Given the description of an element on the screen output the (x, y) to click on. 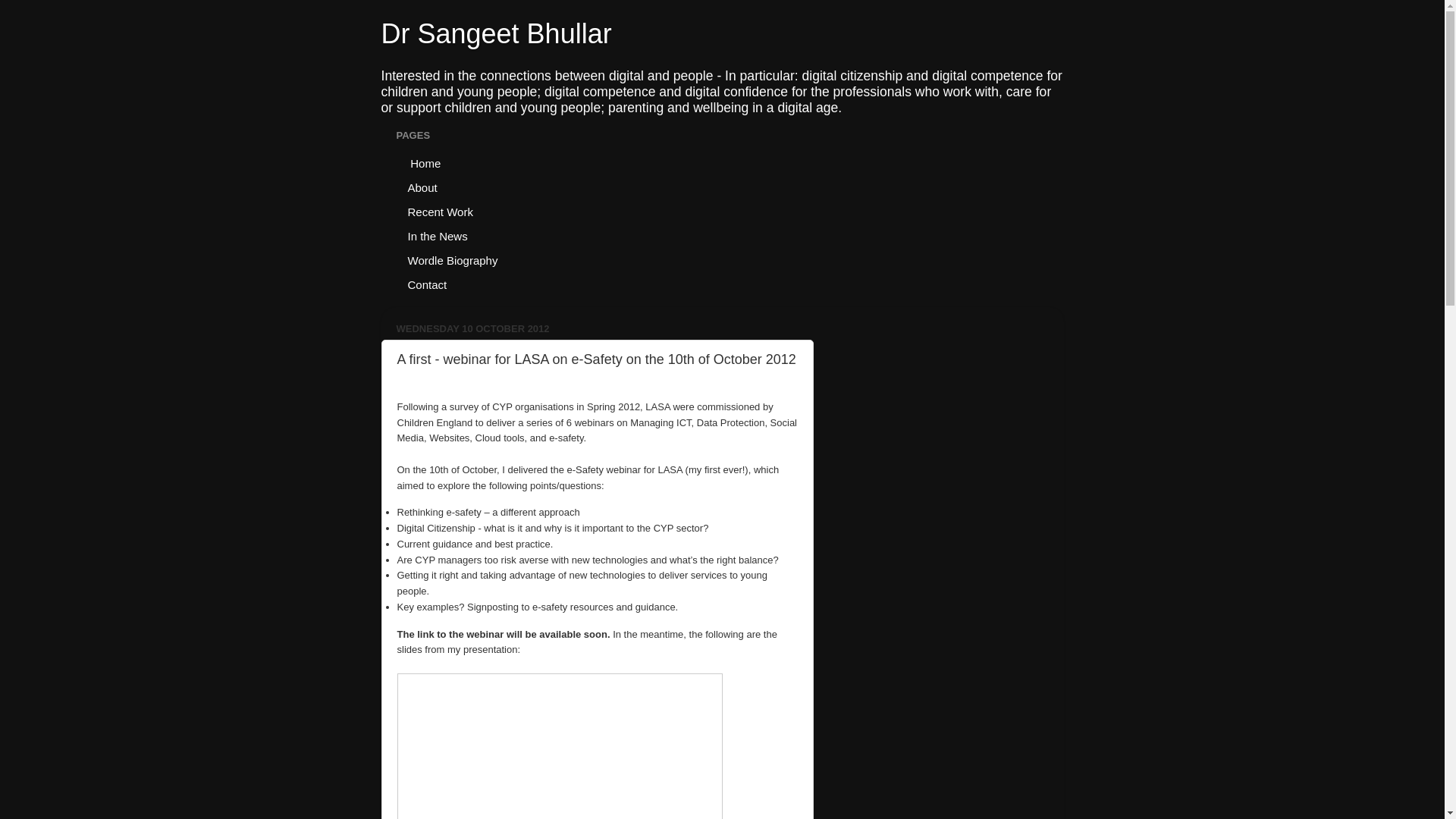
Dr Sangeet Bhullar (495, 33)
Wordle Biography (452, 259)
Home (424, 162)
Recent Work (440, 211)
Contact (427, 283)
In the News (437, 235)
About (422, 187)
